Given the description of an element on the screen output the (x, y) to click on. 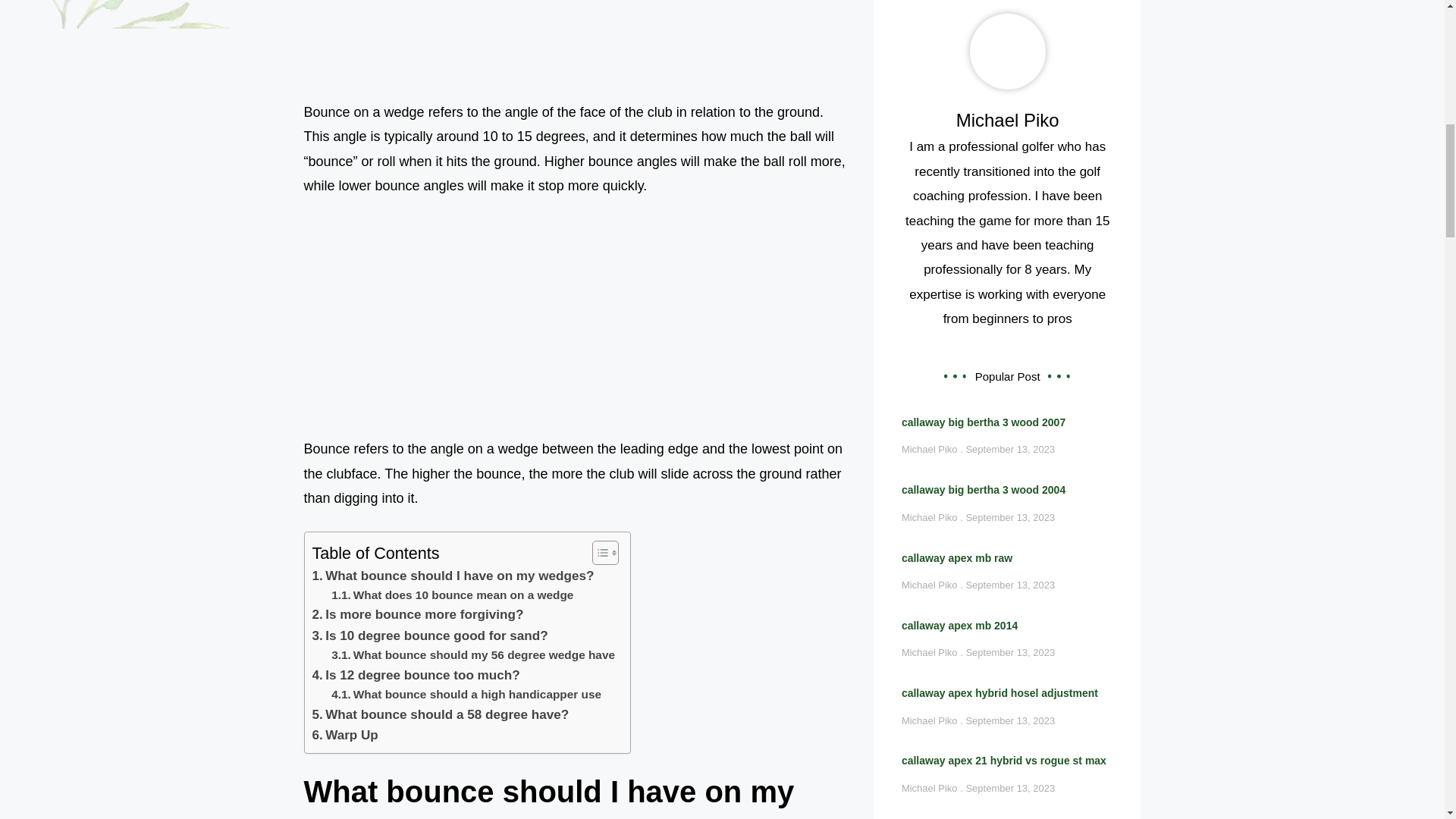
 What does 10 bounce mean on a wedge  (452, 595)
Is more bounce more forgiving? (418, 614)
 Is more bounce more forgiving?  (418, 614)
 Is 12 degree bounce too much?  (416, 675)
 What bounce should I have on my wedges?  (453, 575)
 What bounce should my 56 degree wedge have  (472, 655)
Is 12 degree bounce too much? (416, 675)
What bounce should I have on my wedges? (453, 575)
 What bounce should a high handicapper use  (466, 694)
What bounce should a high handicapper use (466, 694)
